Given the description of an element on the screen output the (x, y) to click on. 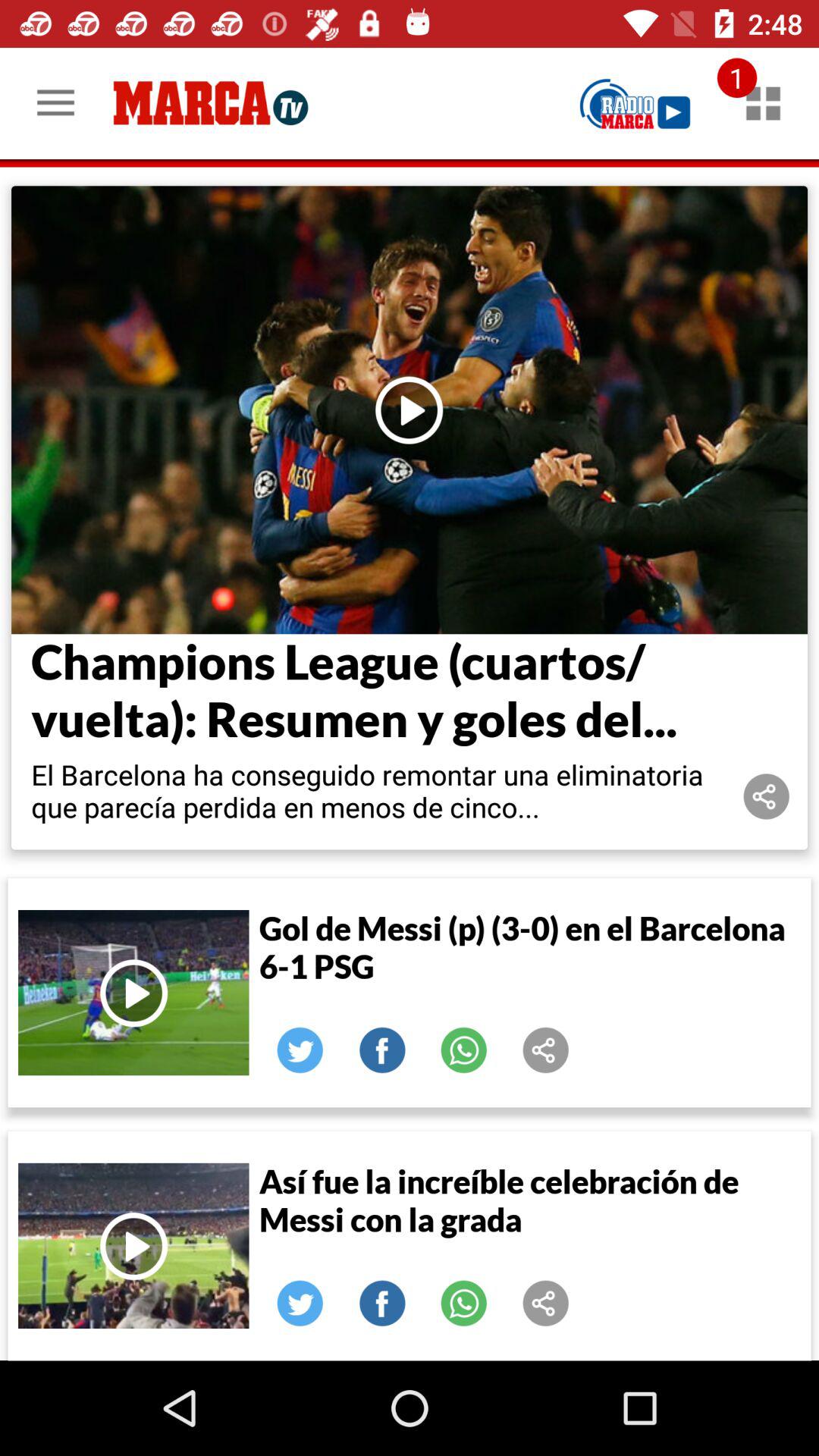
share article (545, 1050)
